Given the description of an element on the screen output the (x, y) to click on. 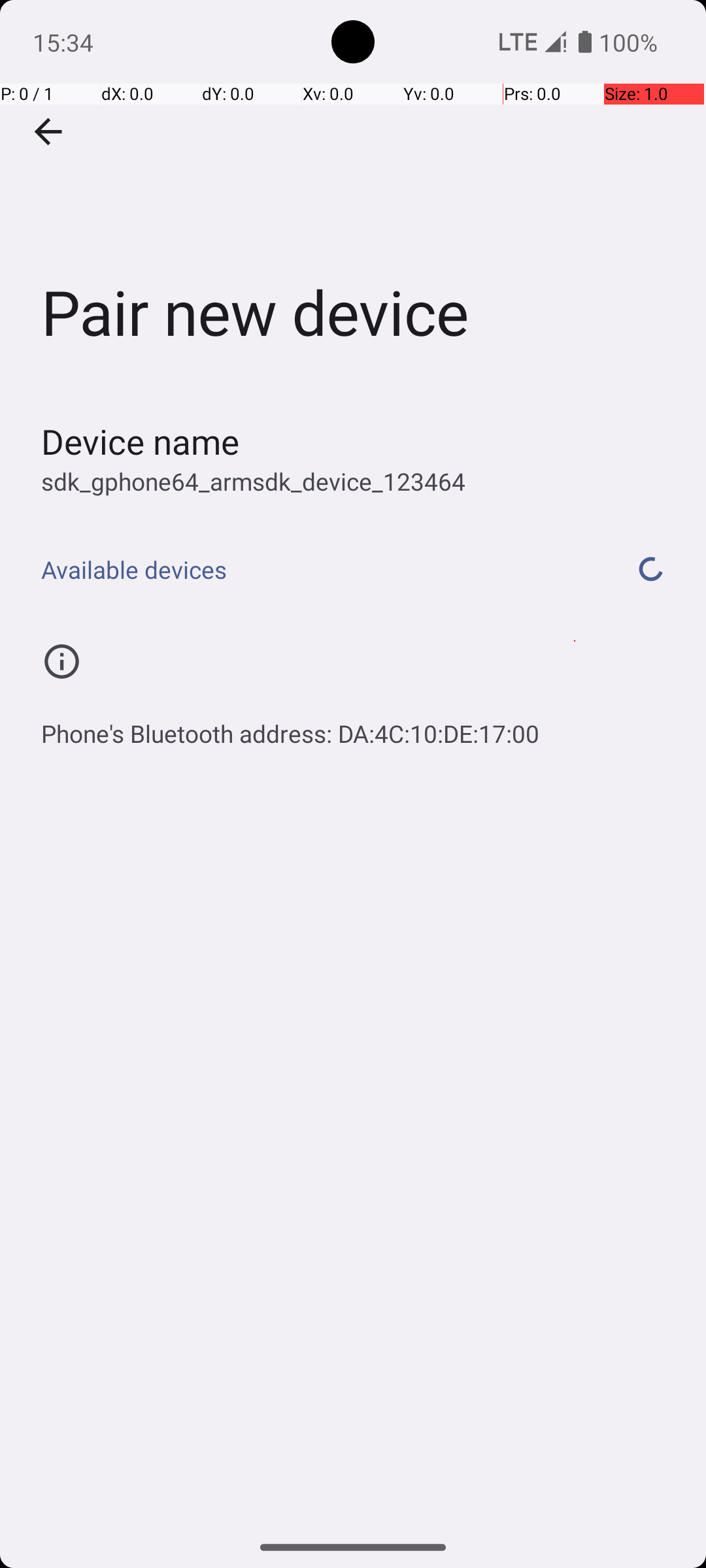
sdk_gphone64_armsdk_device_123464 Element type: android.widget.TextView (253, 480)
Available devices Element type: android.widget.TextView (318, 569)
Phone's Bluetooth address: DA:4C:10:DE:17:00 Element type: android.widget.TextView (290, 726)
